Given the description of an element on the screen output the (x, y) to click on. 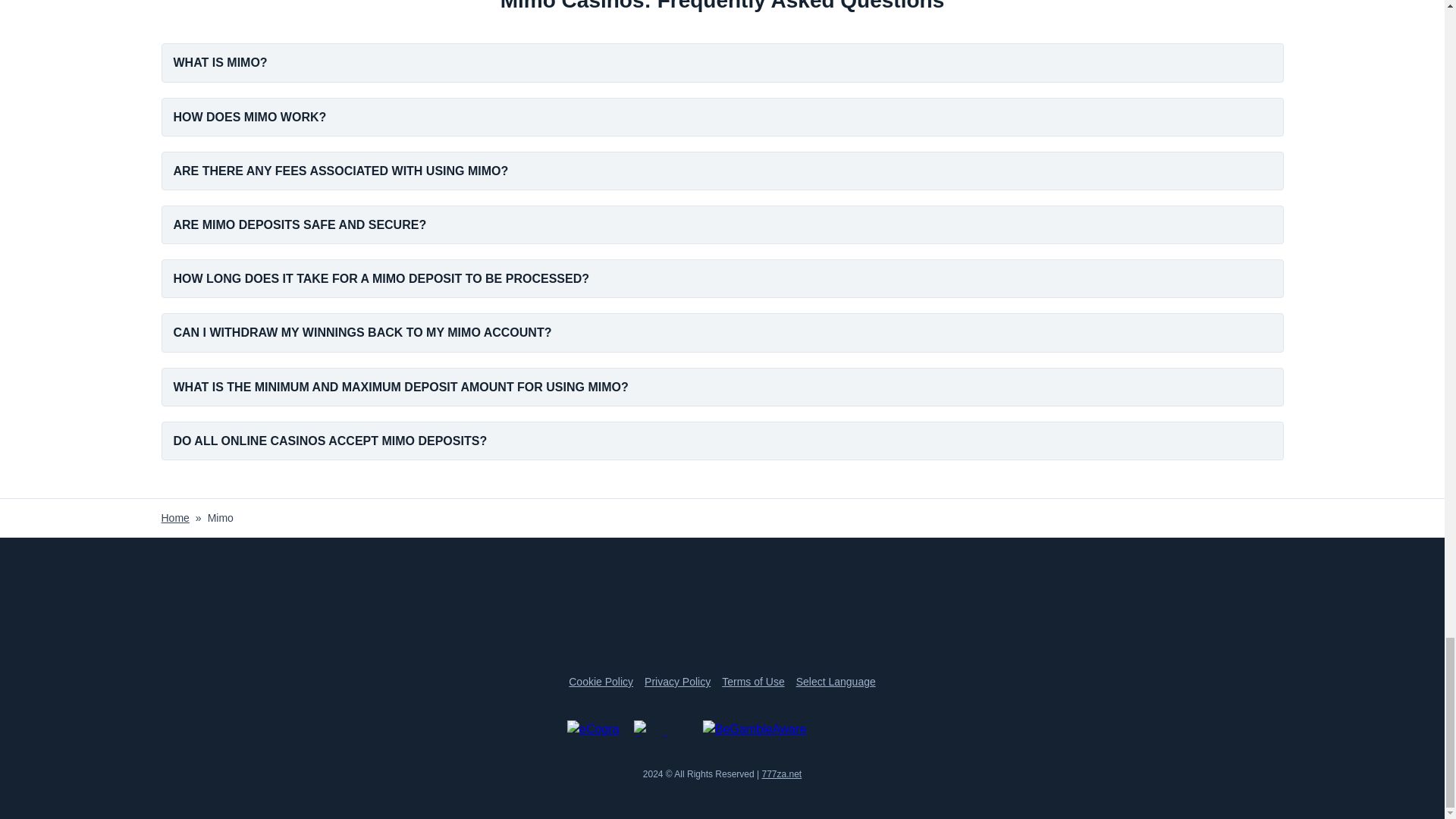
eCogra (595, 728)
GamCare (662, 728)
BeGambleAware (790, 728)
